Given the description of an element on the screen output the (x, y) to click on. 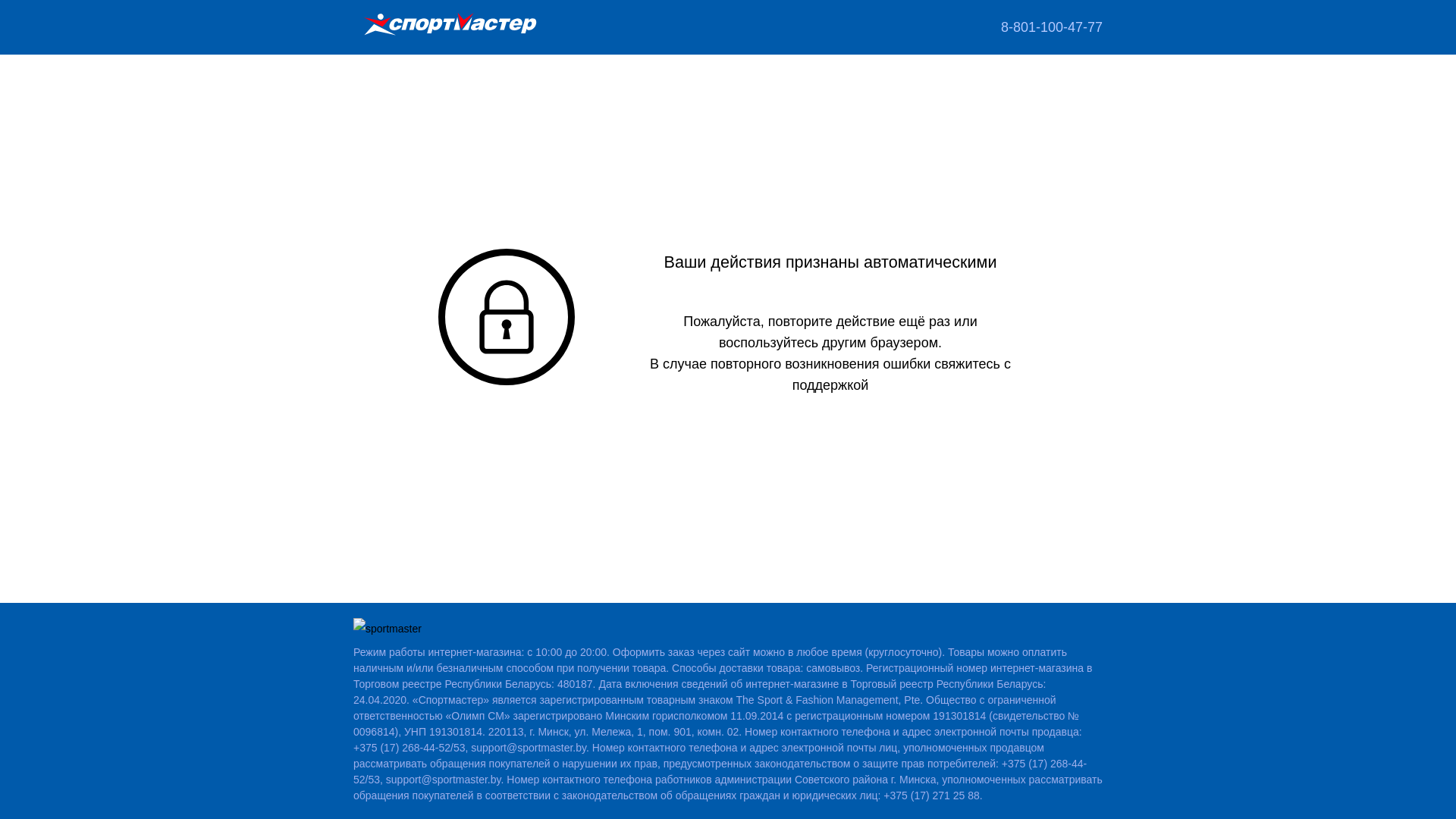
8-801-100-47-77 Element type: text (1051, 26)
